Given the description of an element on the screen output the (x, y) to click on. 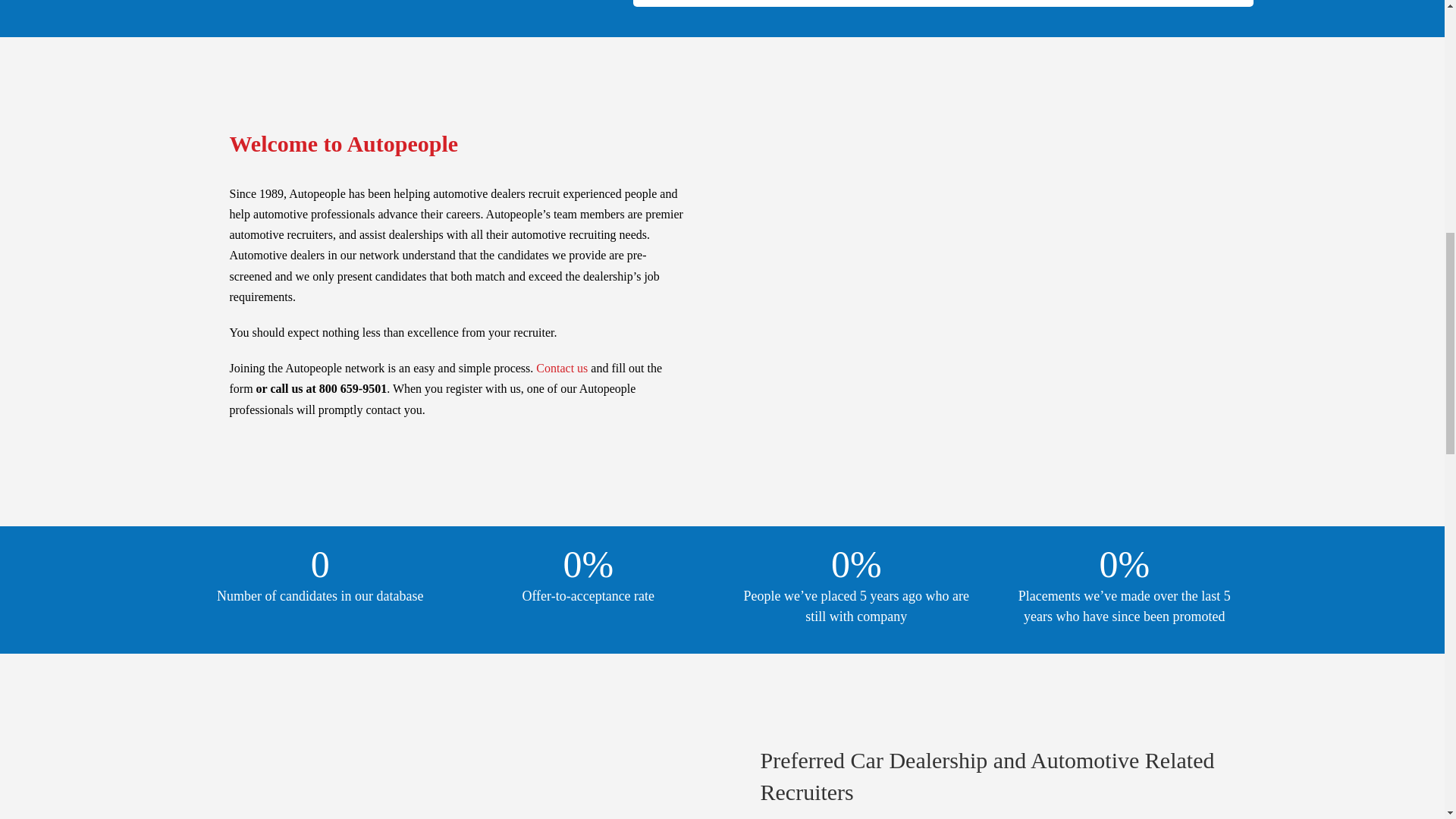
Contact us (561, 367)
